Given the description of an element on the screen output the (x, y) to click on. 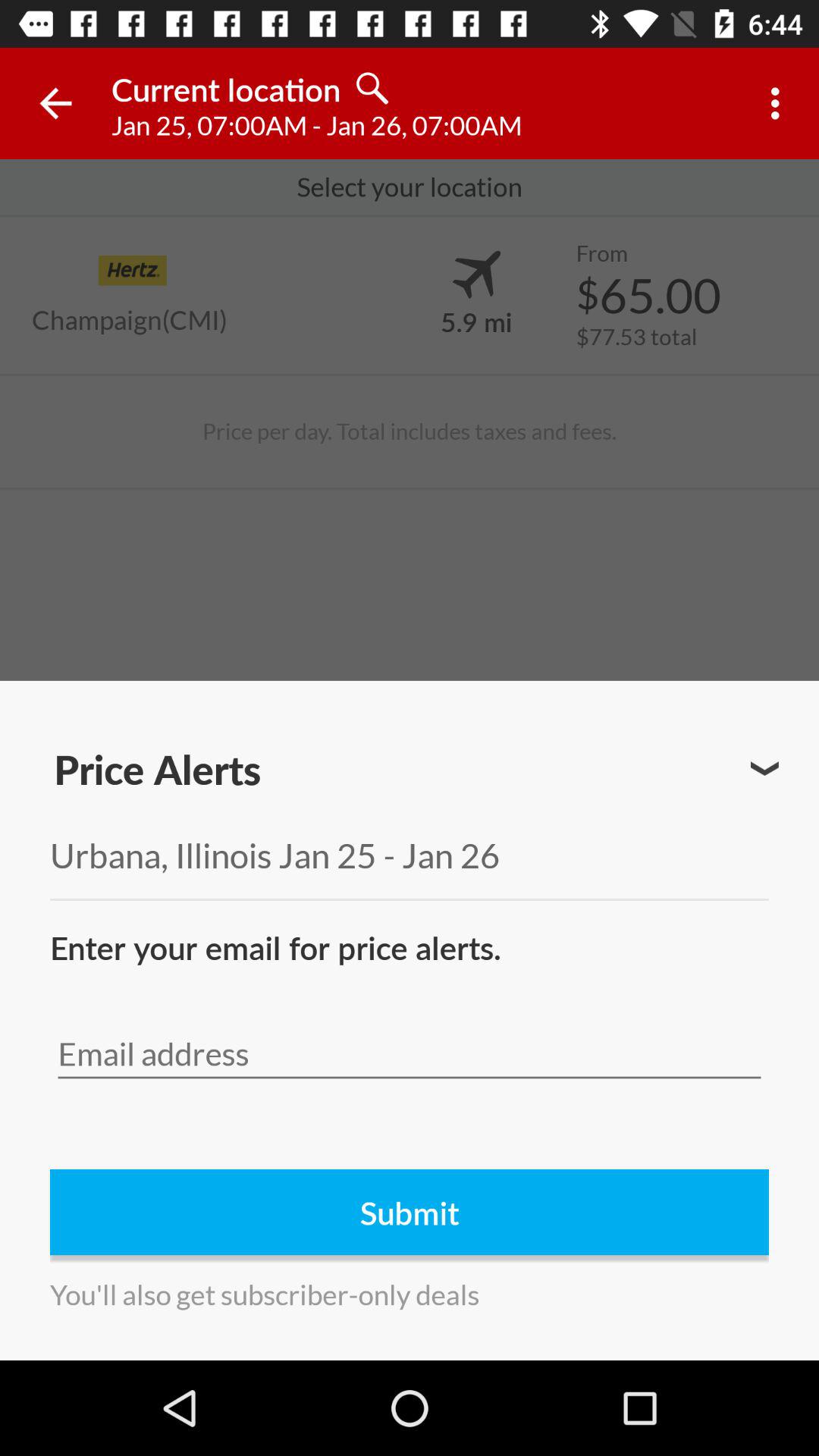
email form (409, 1054)
